Given the description of an element on the screen output the (x, y) to click on. 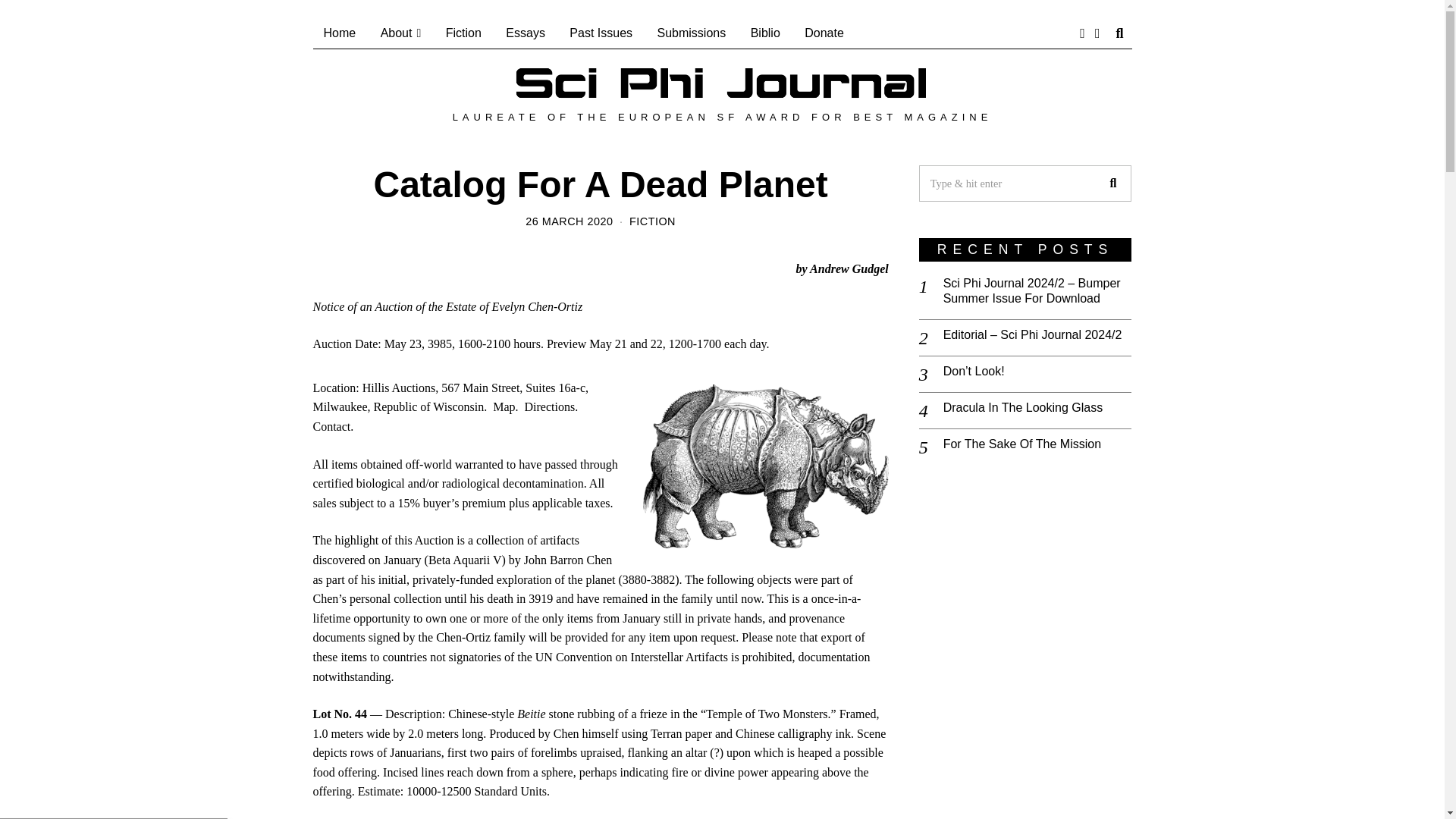
Biblio (764, 33)
Submissions (691, 33)
Donate (823, 33)
Fiction (463, 33)
Home (339, 33)
Essays (525, 33)
Go (1112, 183)
Past Issues (601, 33)
About (400, 33)
FICTION (651, 221)
